Given the description of an element on the screen output the (x, y) to click on. 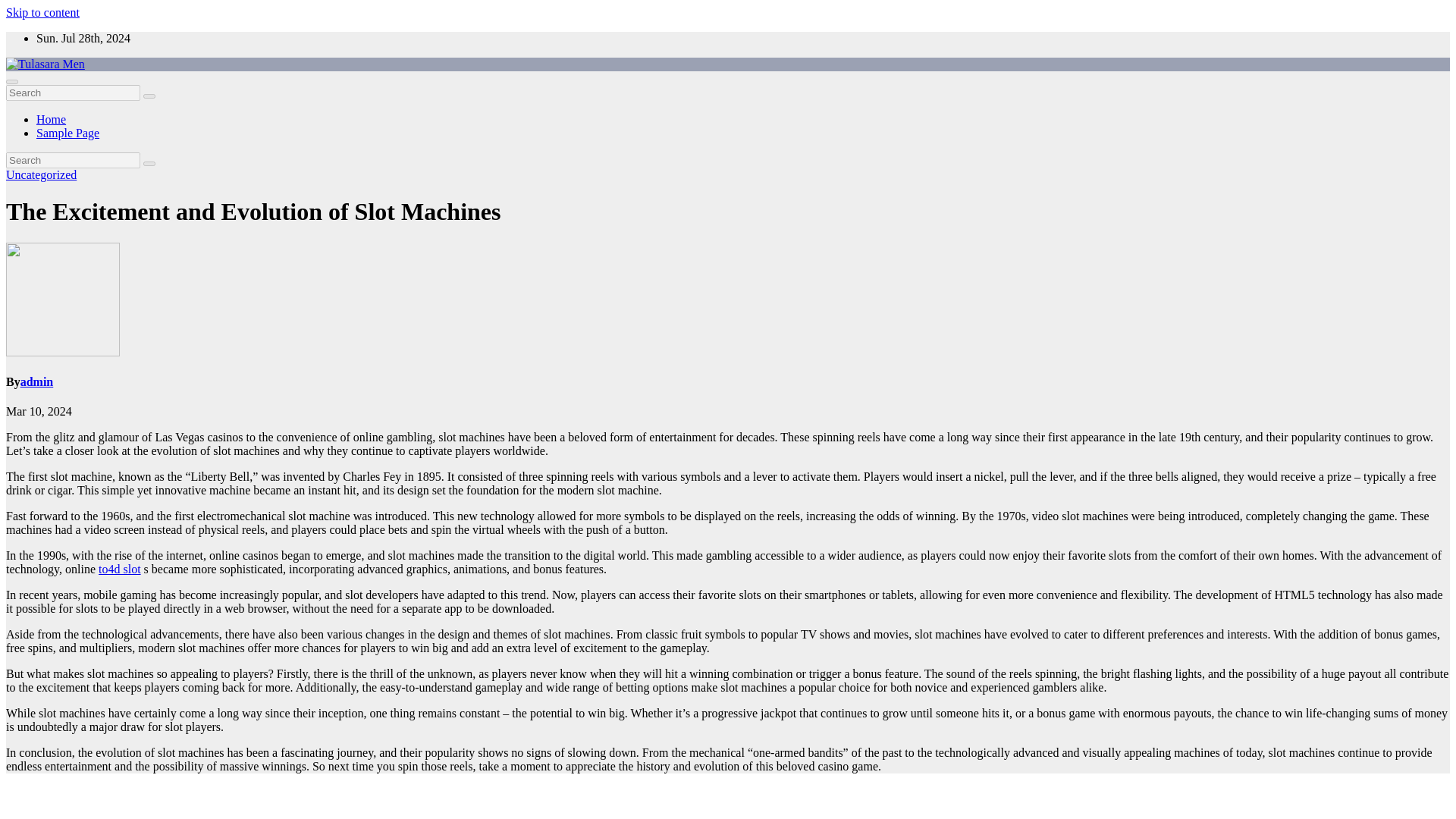
Uncategorized (41, 174)
Skip to content (42, 11)
Permalink to: The Excitement and Evolution of Slot Machines (252, 211)
Sample Page (67, 132)
Home (50, 119)
admin (36, 381)
to4d slot (120, 568)
The Excitement and Evolution of Slot Machines (252, 211)
Home (50, 119)
